Given the description of an element on the screen output the (x, y) to click on. 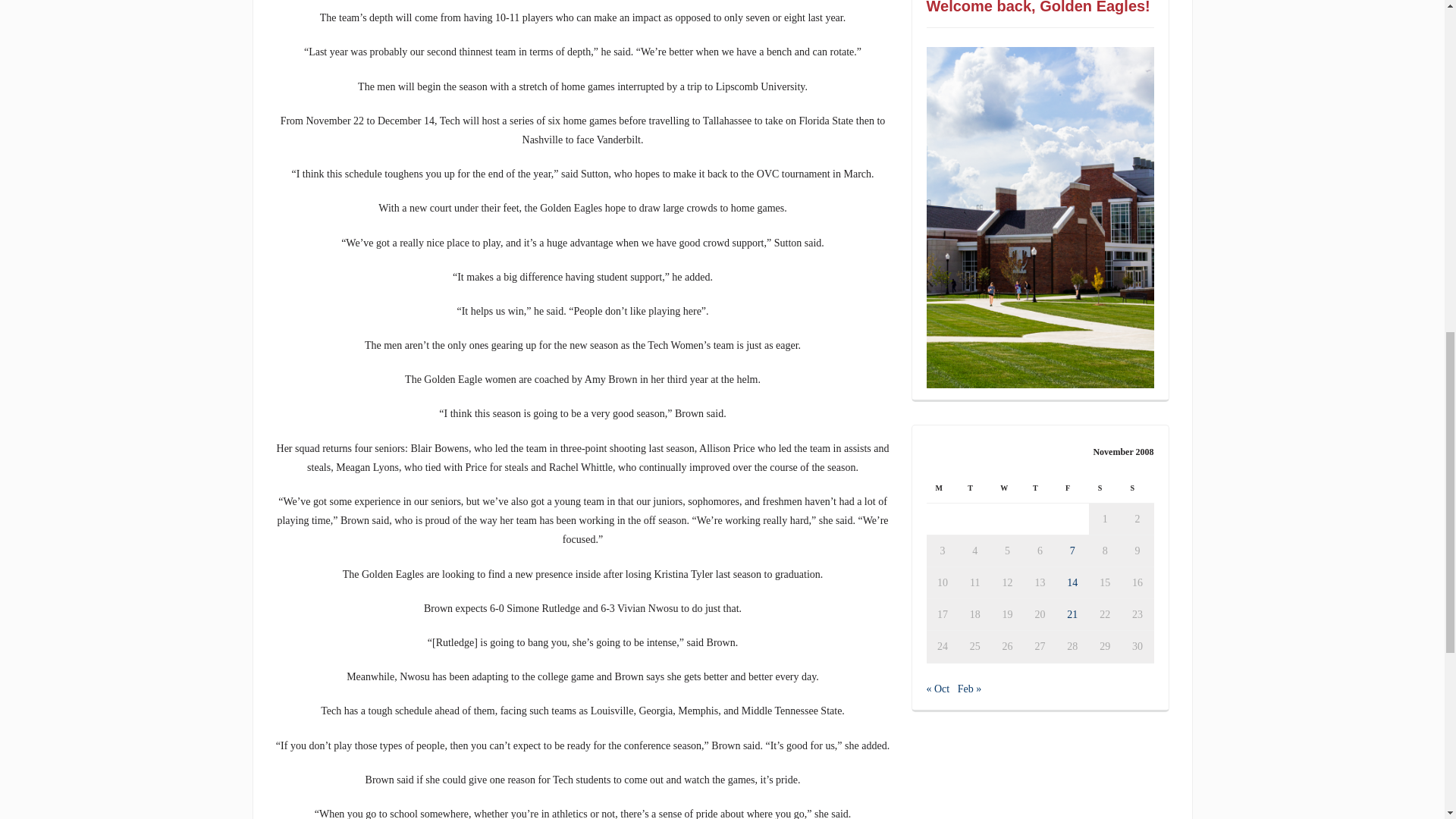
Friday (1073, 487)
14 (1072, 582)
Tuesday (974, 487)
Sunday (1137, 487)
Monday (942, 487)
Wednesday (1007, 487)
Thursday (1040, 487)
Saturday (1105, 487)
21 (1072, 614)
